Given the description of an element on the screen output the (x, y) to click on. 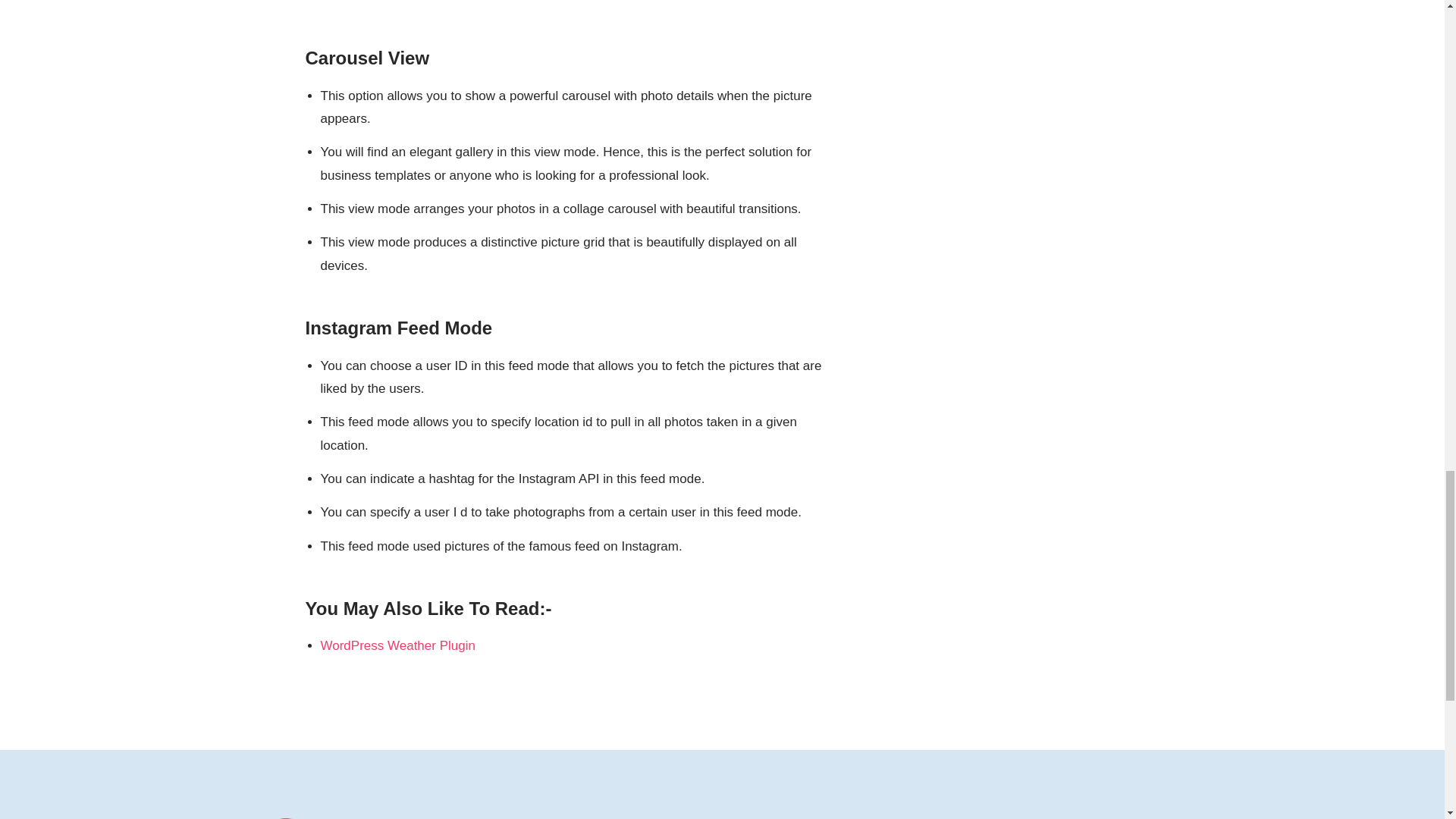
WordPress Weather Plugin (397, 645)
